Given the description of an element on the screen output the (x, y) to click on. 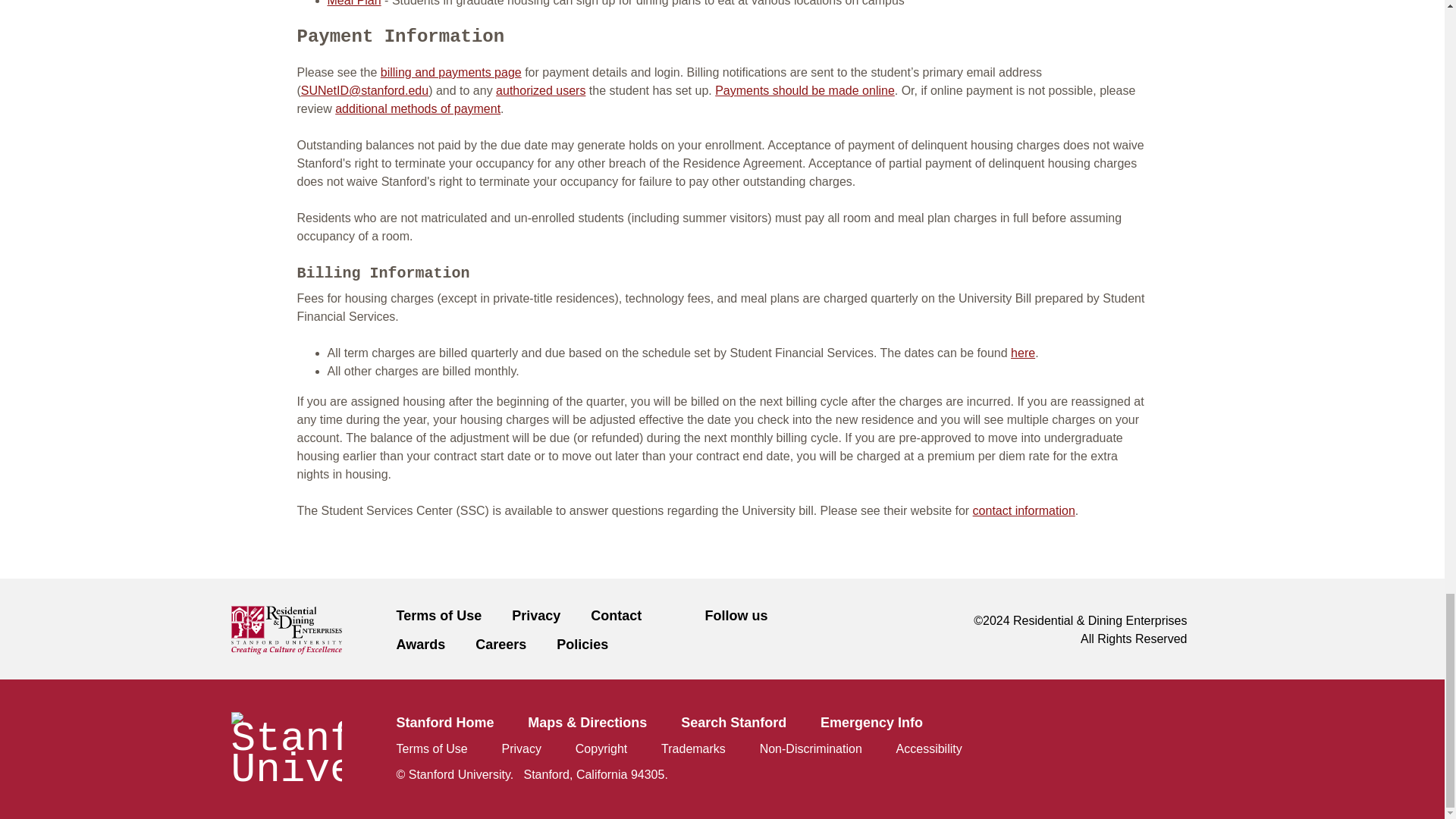
Report alleged copyright infringement (601, 748)
Non-discrimination policy (810, 748)
Common Stanford resources (721, 748)
Terms of use for sites (431, 748)
Ownership and use of Stanford trademarks and images (693, 748)
Privacy and cookie policy (521, 748)
Report web accessibility issues (929, 748)
